Given the description of an element on the screen output the (x, y) to click on. 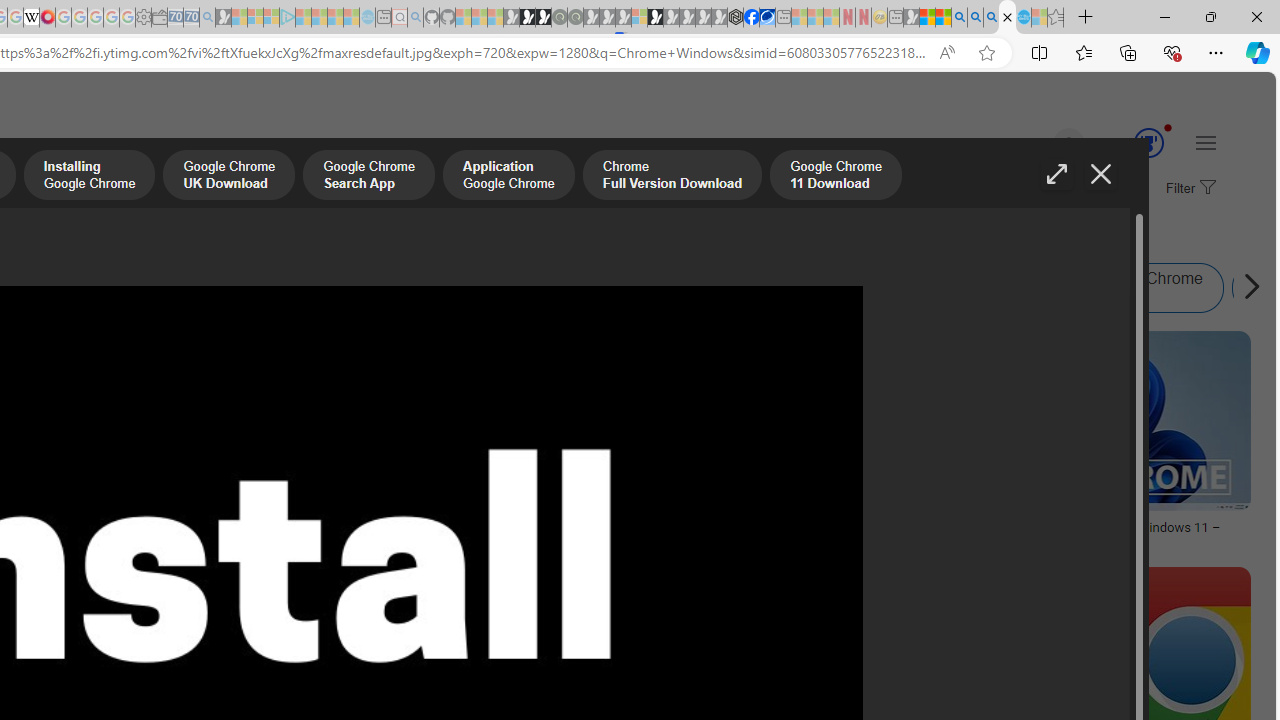
Image result for Chrome Windows (1090, 421)
Chrome Windows - Search Images (1007, 17)
Filter (1188, 189)
Google Chrome Win 7 (1128, 287)
Play Zoo Boom in your browser | Games from Microsoft Start (527, 17)
AutomationID: serp_medal_svg (1148, 142)
Microsoft account | Privacy - Sleeping (271, 17)
